Given the description of an element on the screen output the (x, y) to click on. 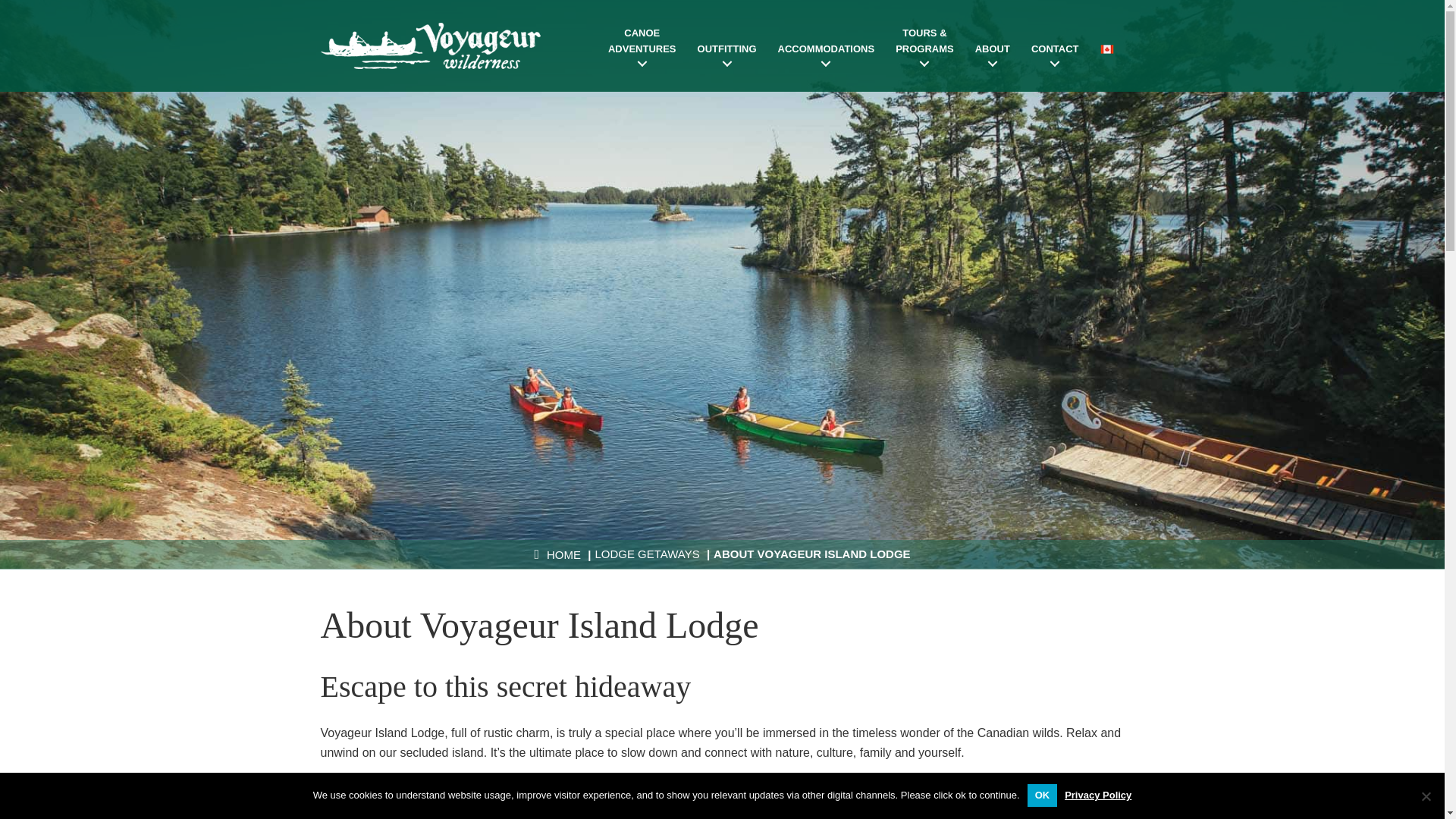
OUTFITTING (727, 55)
English (1106, 50)
ABOUT (991, 55)
No (641, 47)
Landscape Logo (1425, 795)
ACCOMMODATIONS (430, 45)
